Given the description of an element on the screen output the (x, y) to click on. 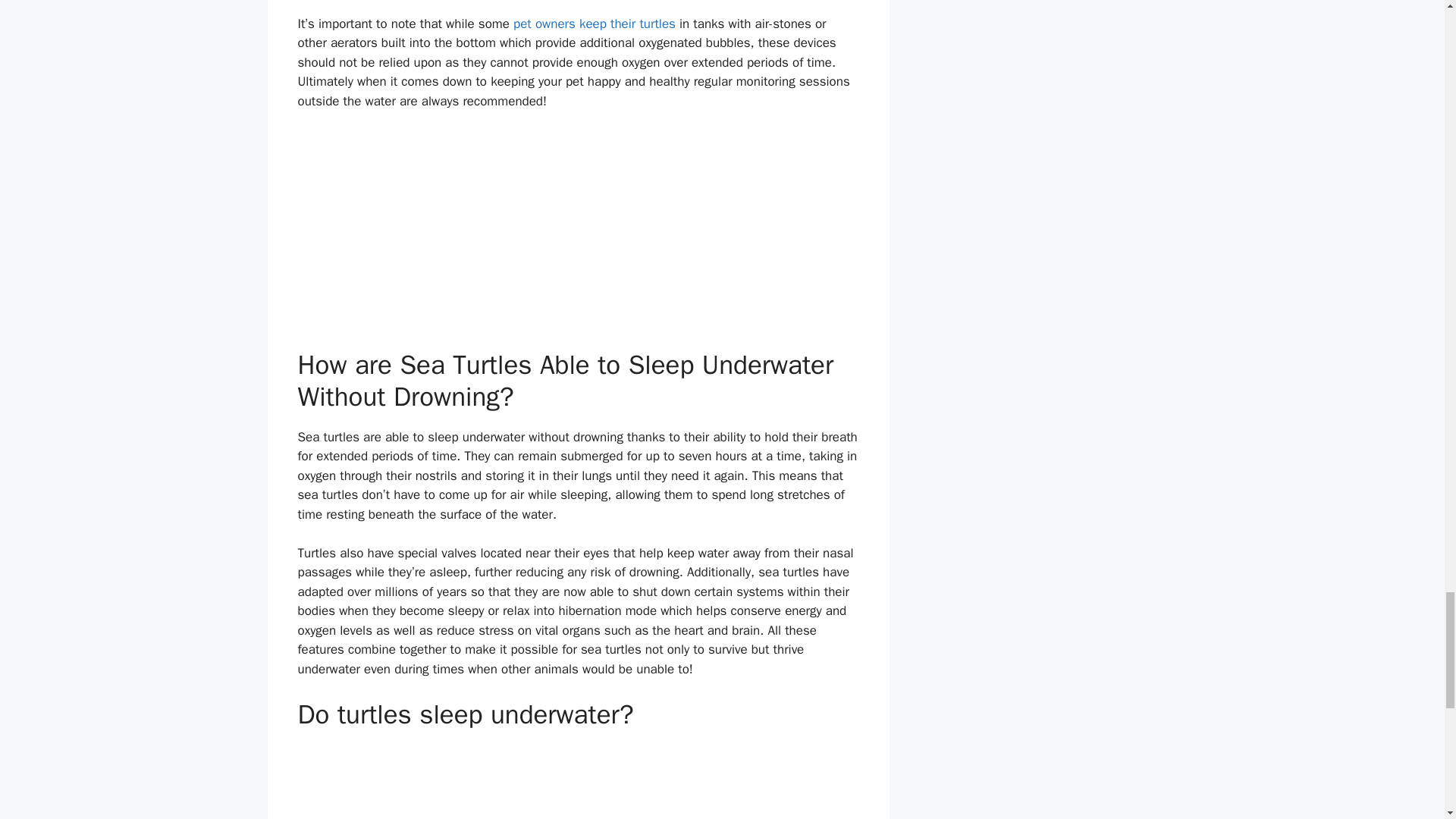
Do turtles sleep underwater? (578, 782)
pet owners keep their turtles (594, 23)
